Given the description of an element on the screen output the (x, y) to click on. 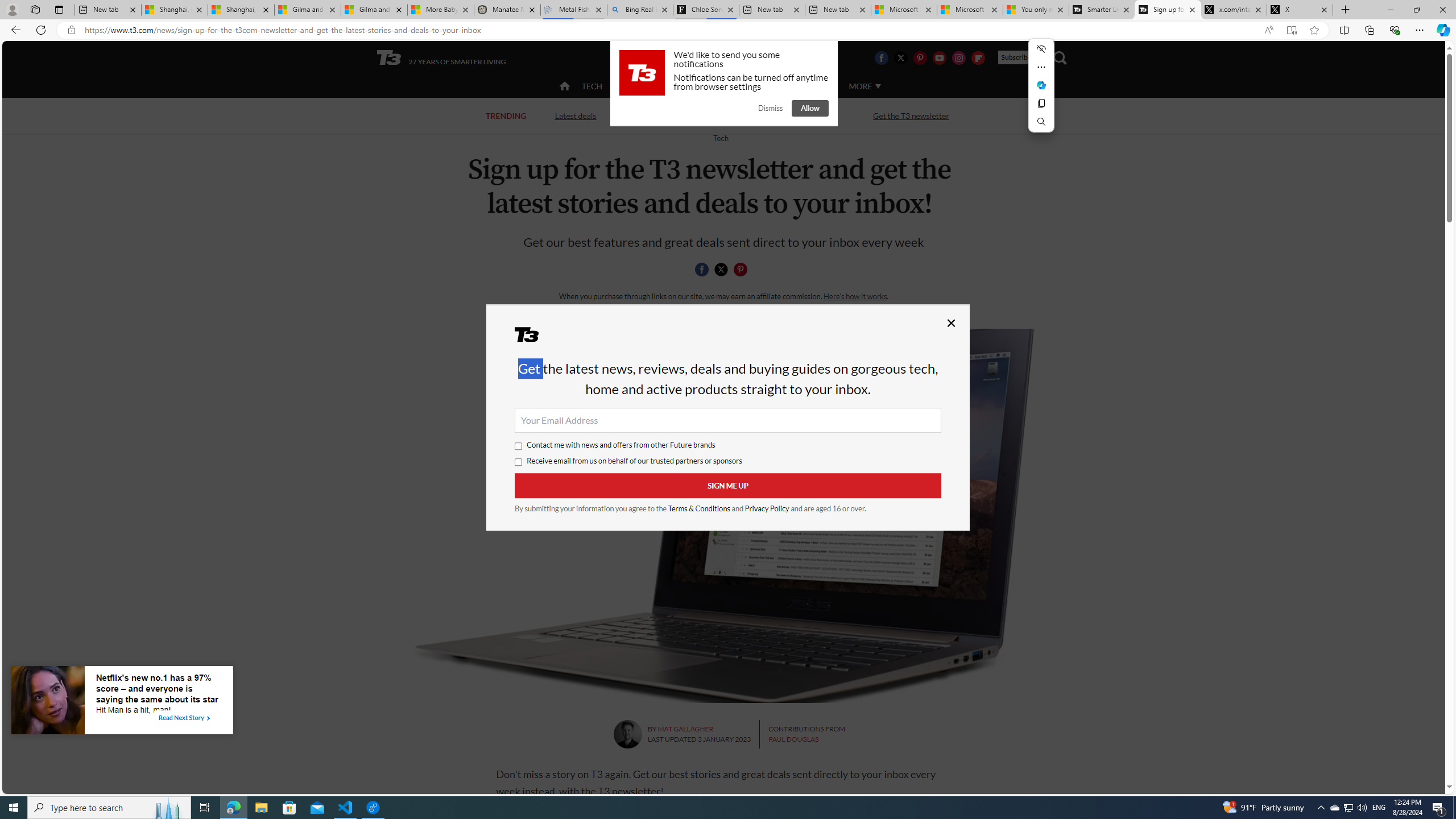
Terms & Conditions (699, 508)
